Given the description of an element on the screen output the (x, y) to click on. 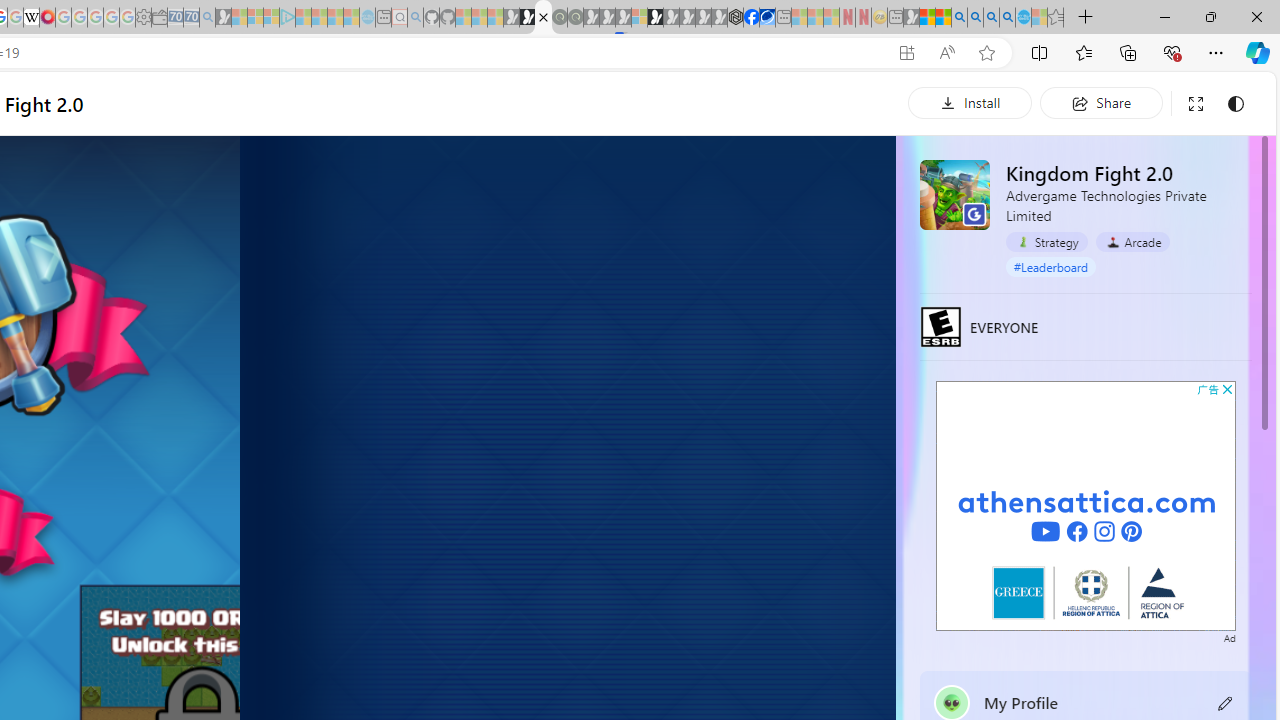
Full screen (1195, 103)
Microsoft Start Gaming - Sleeping (223, 17)
New tab - Sleeping (895, 17)
Home | Sky Blue Bikes - Sky Blue Bikes - Sleeping (367, 17)
Sign in to your account - Sleeping (639, 17)
Bing AI - Search (959, 17)
App available. Install Kingdom Fight 2.0 (906, 53)
Change to dark mode (1235, 103)
